Given the description of an element on the screen output the (x, y) to click on. 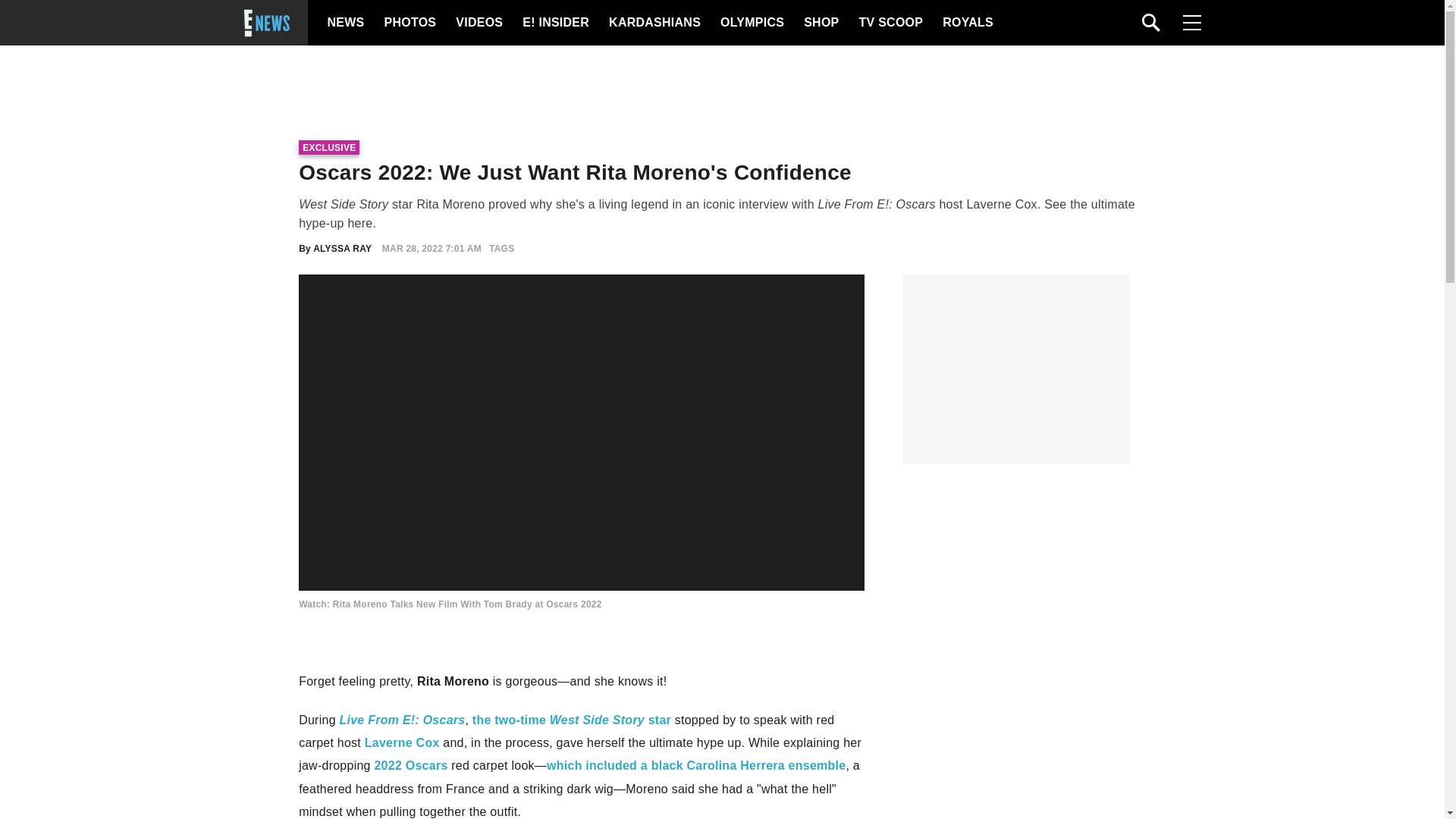
NEWS (345, 22)
KARDASHIANS (653, 22)
ROYALS (966, 22)
TV SCOOP (890, 22)
2022 Oscars (410, 765)
PHOTOS (408, 22)
Live From E!: Oscars (401, 719)
VIDEOS (478, 22)
which included a black Carolina Herrera ensemble (696, 765)
Laverne Cox (402, 742)
E! INSIDER (555, 22)
OLYMPICS (751, 22)
ALYSSA RAY (342, 248)
SHOP (820, 22)
the two-time West Side Story star (571, 719)
